Given the description of an element on the screen output the (x, y) to click on. 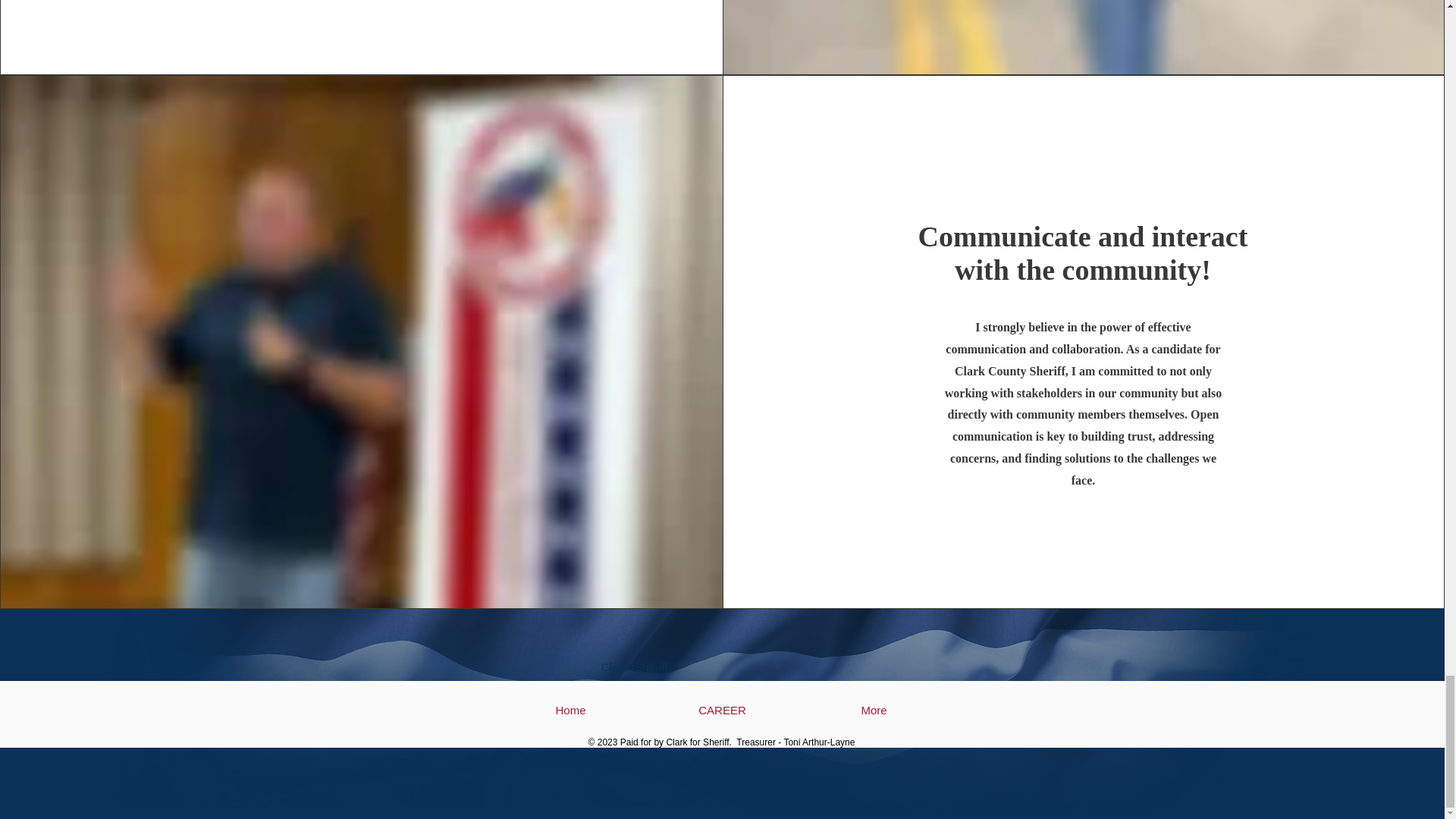
Home (570, 709)
CAREER (721, 709)
